Given the description of an element on the screen output the (x, y) to click on. 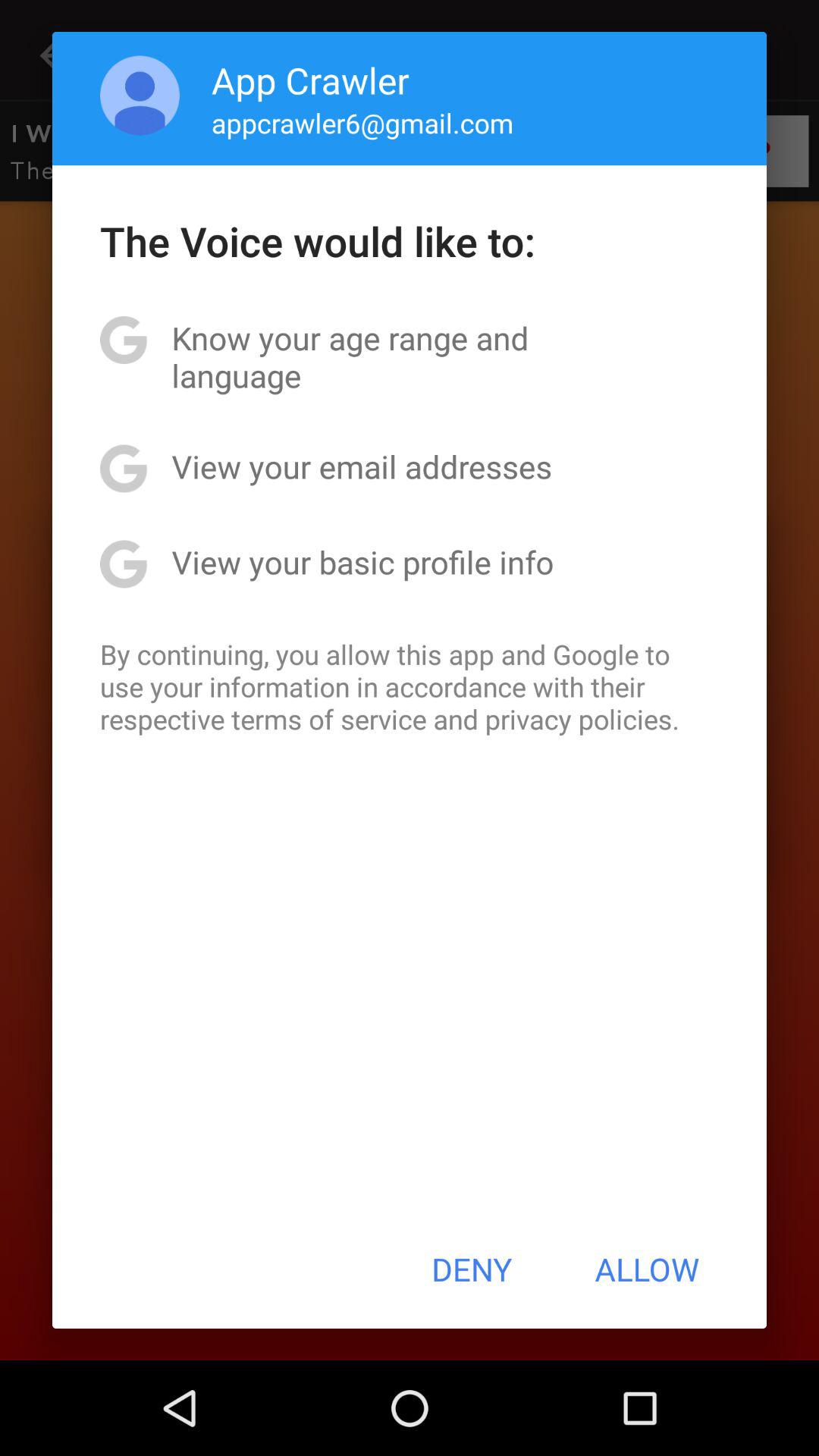
launch the button next to the allow item (471, 1268)
